Given the description of an element on the screen output the (x, y) to click on. 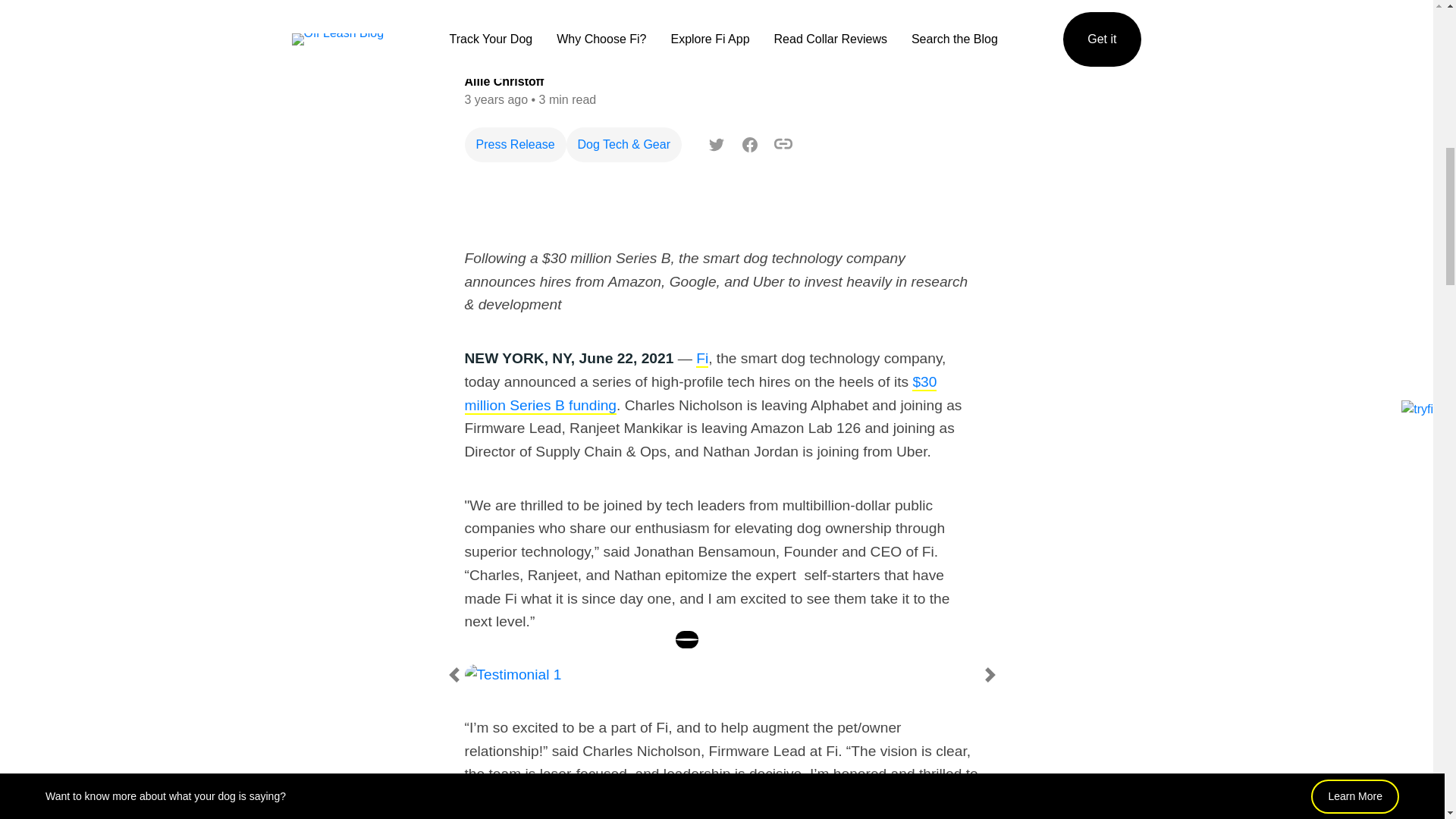
Press Release (515, 144)
Previous (453, 675)
Next (990, 675)
